Given the description of an element on the screen output the (x, y) to click on. 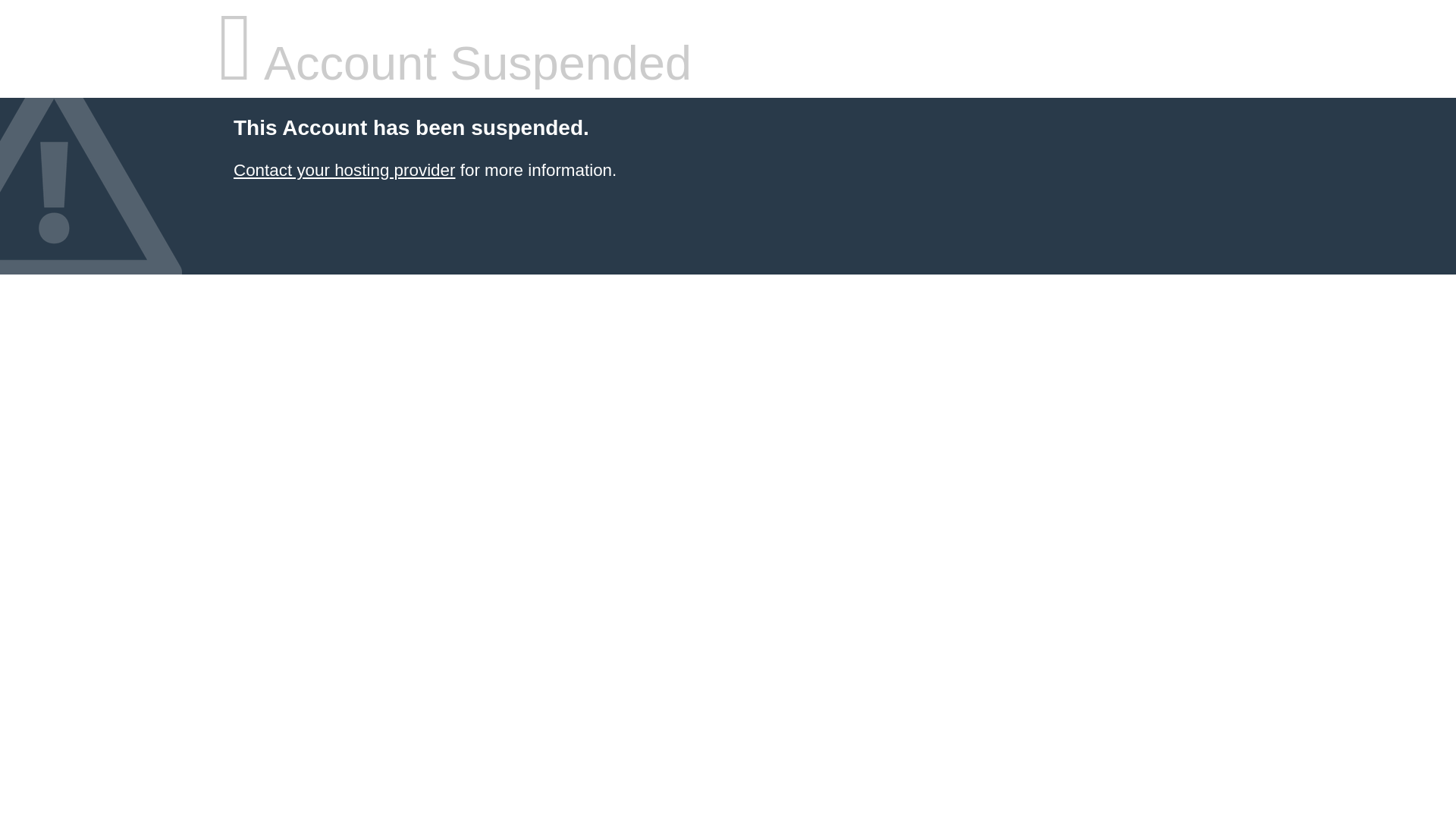
Contact your hosting provider (343, 169)
